Given the description of an element on the screen output the (x, y) to click on. 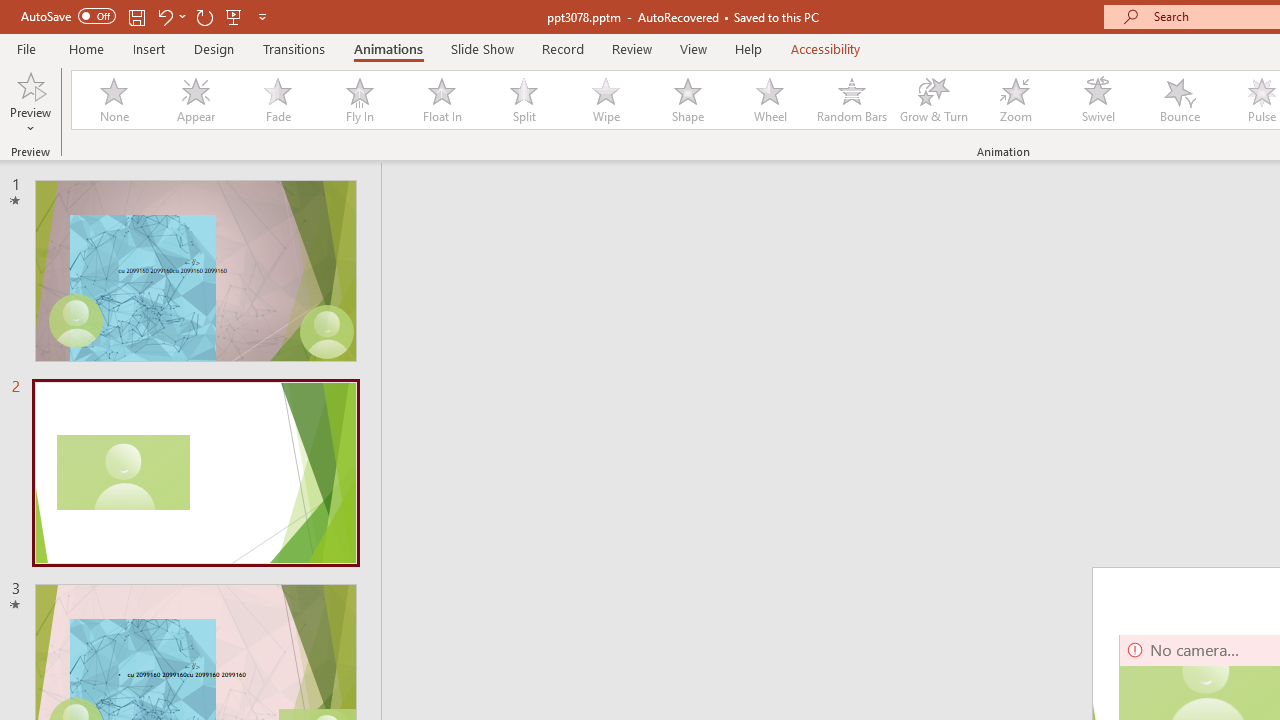
Swivel (1098, 100)
None (113, 100)
Wipe (605, 100)
Preview (30, 102)
Random Bars (852, 100)
